Given the description of an element on the screen output the (x, y) to click on. 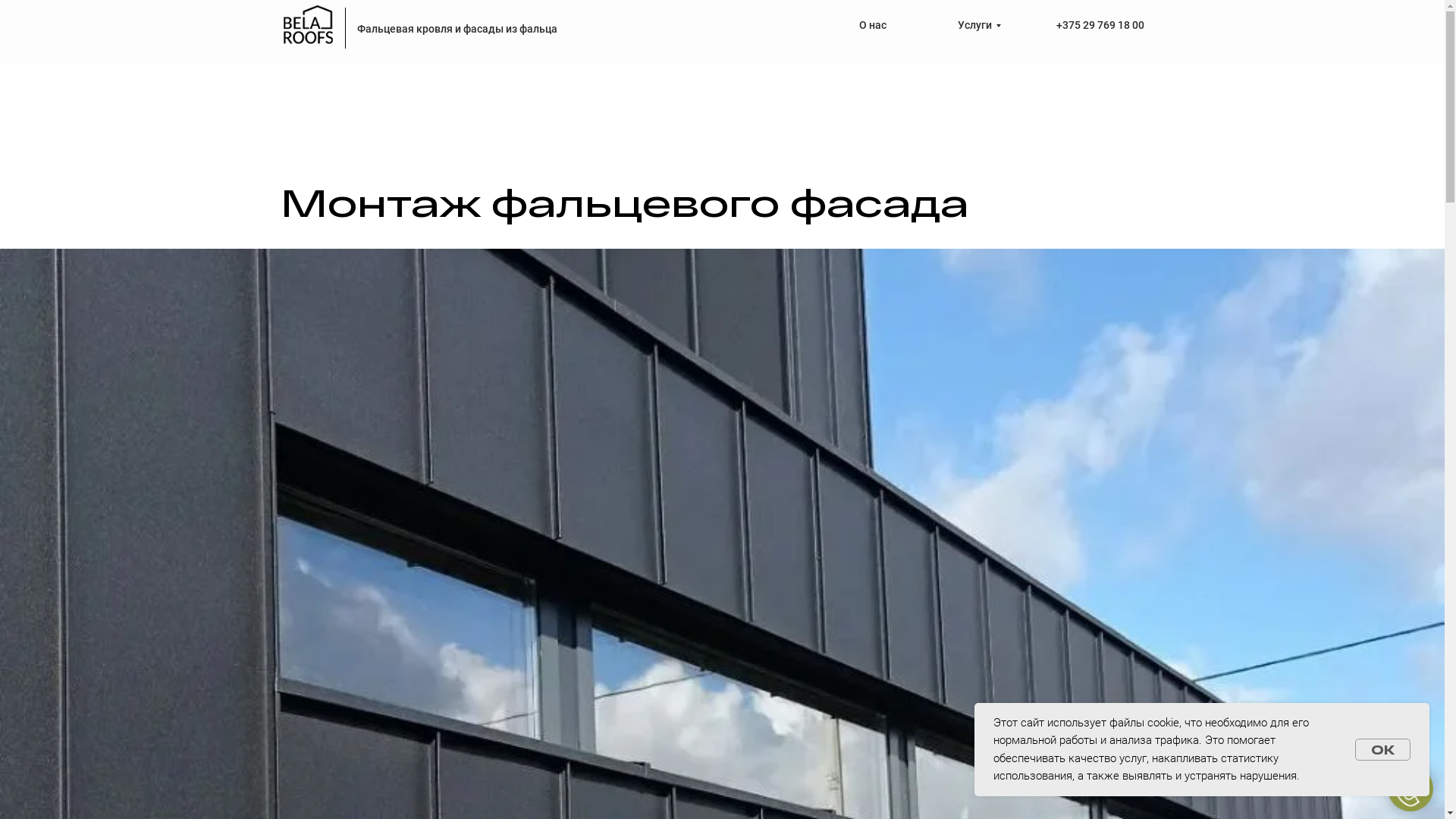
+375 29 769 18 00 Element type: text (1099, 24)
